Given the description of an element on the screen output the (x, y) to click on. 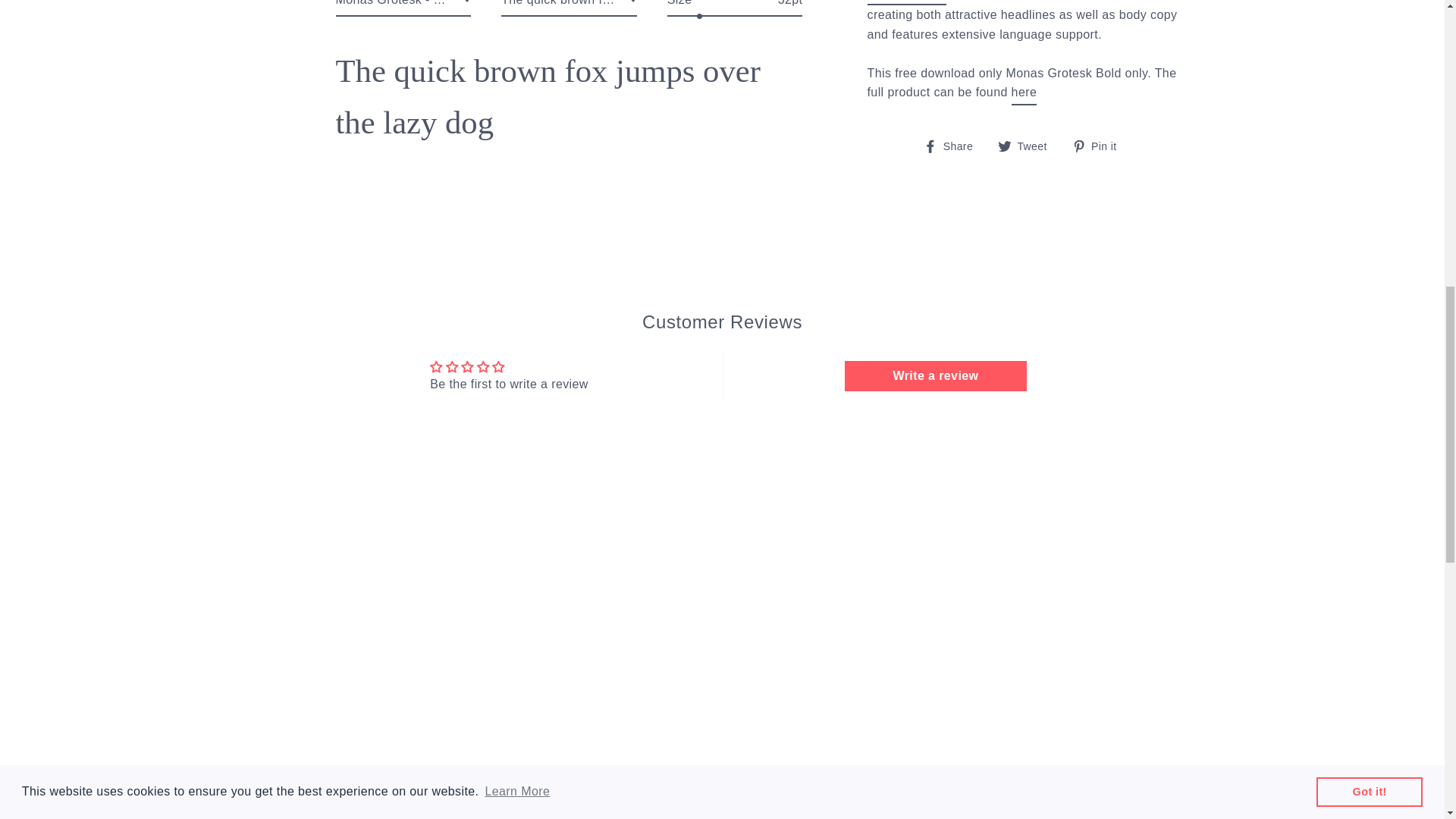
Pin on Pinterest (1099, 106)
Tweet on Twitter (1027, 106)
Share on Facebook (953, 106)
